Given the description of an element on the screen output the (x, y) to click on. 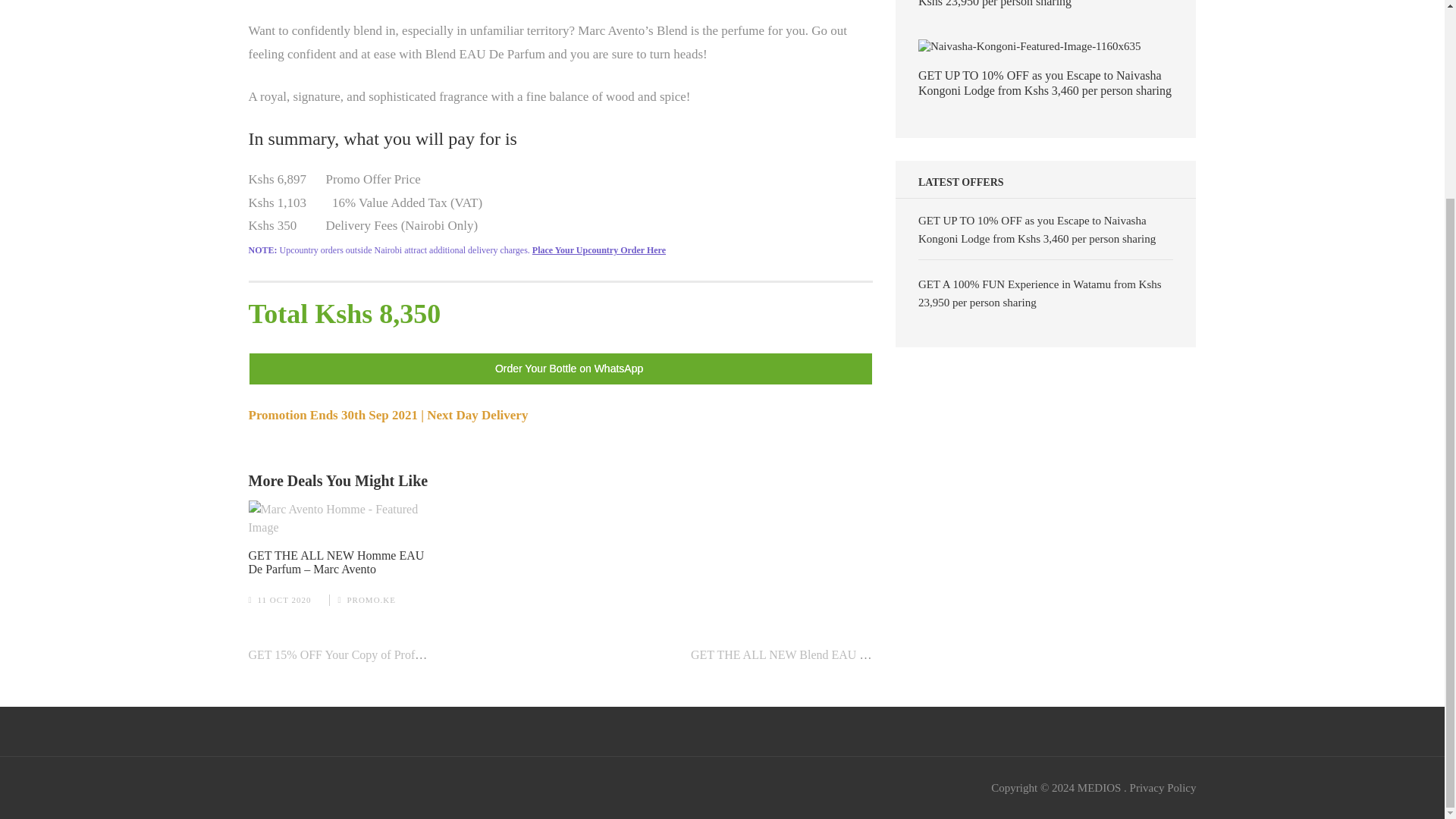
PROMO.KE (371, 599)
11 OCT 2020 (284, 599)
  Order Your Bottle on WhatsApp (560, 368)
Privacy Policy (1162, 787)
  Order Your Bottle on WhatsApp (560, 368)
Place Your Upcountry Order Here (598, 249)
MEDIOS (1099, 787)
